Given the description of an element on the screen output the (x, y) to click on. 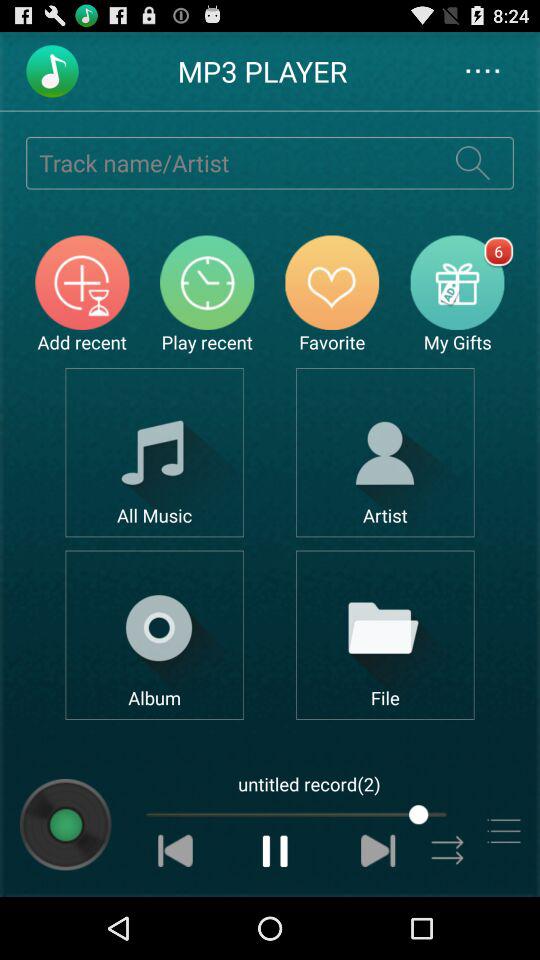
type search query (229, 162)
